Given the description of an element on the screen output the (x, y) to click on. 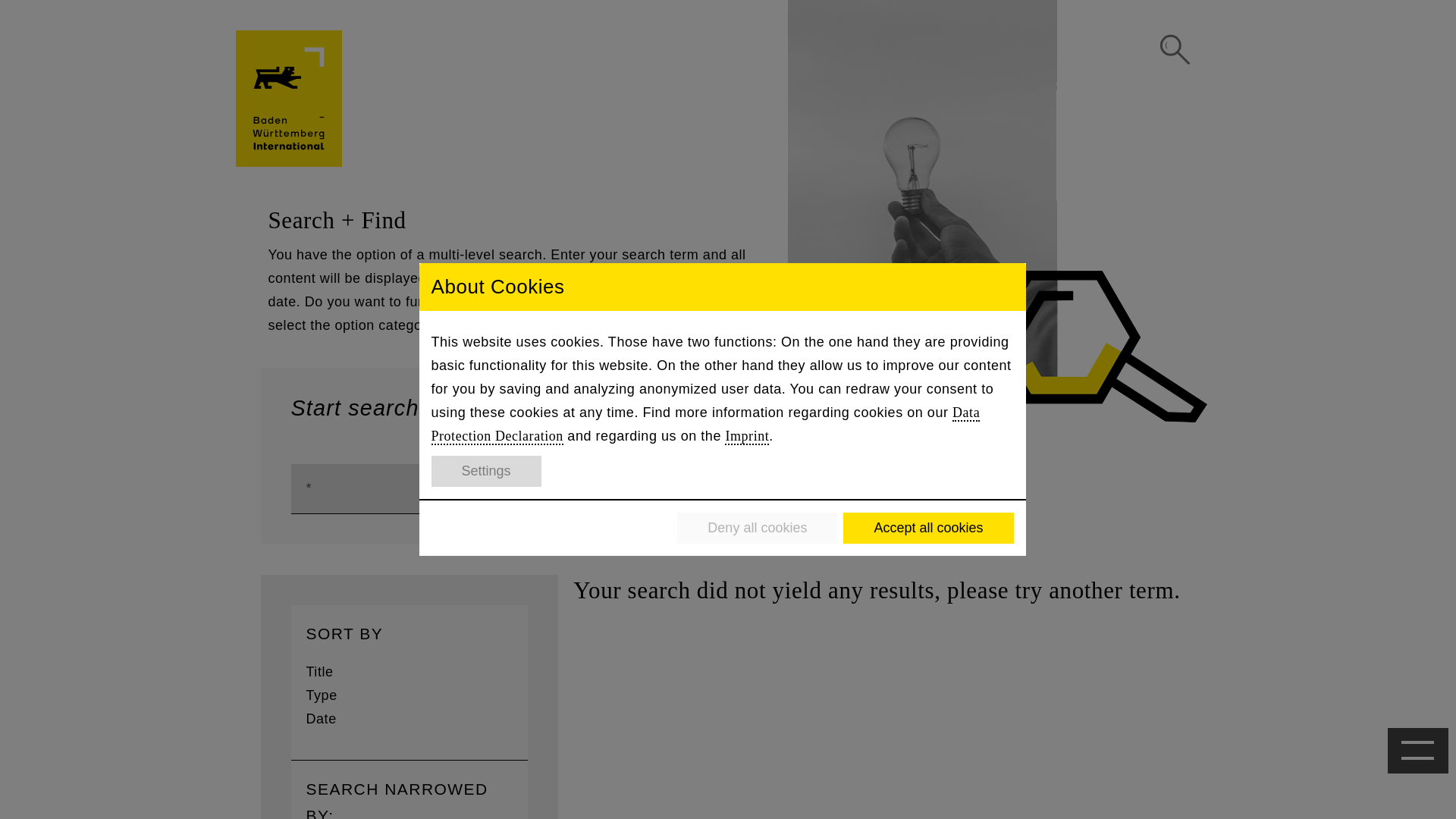
Type (321, 695)
Title (319, 671)
